Given the description of an element on the screen output the (x, y) to click on. 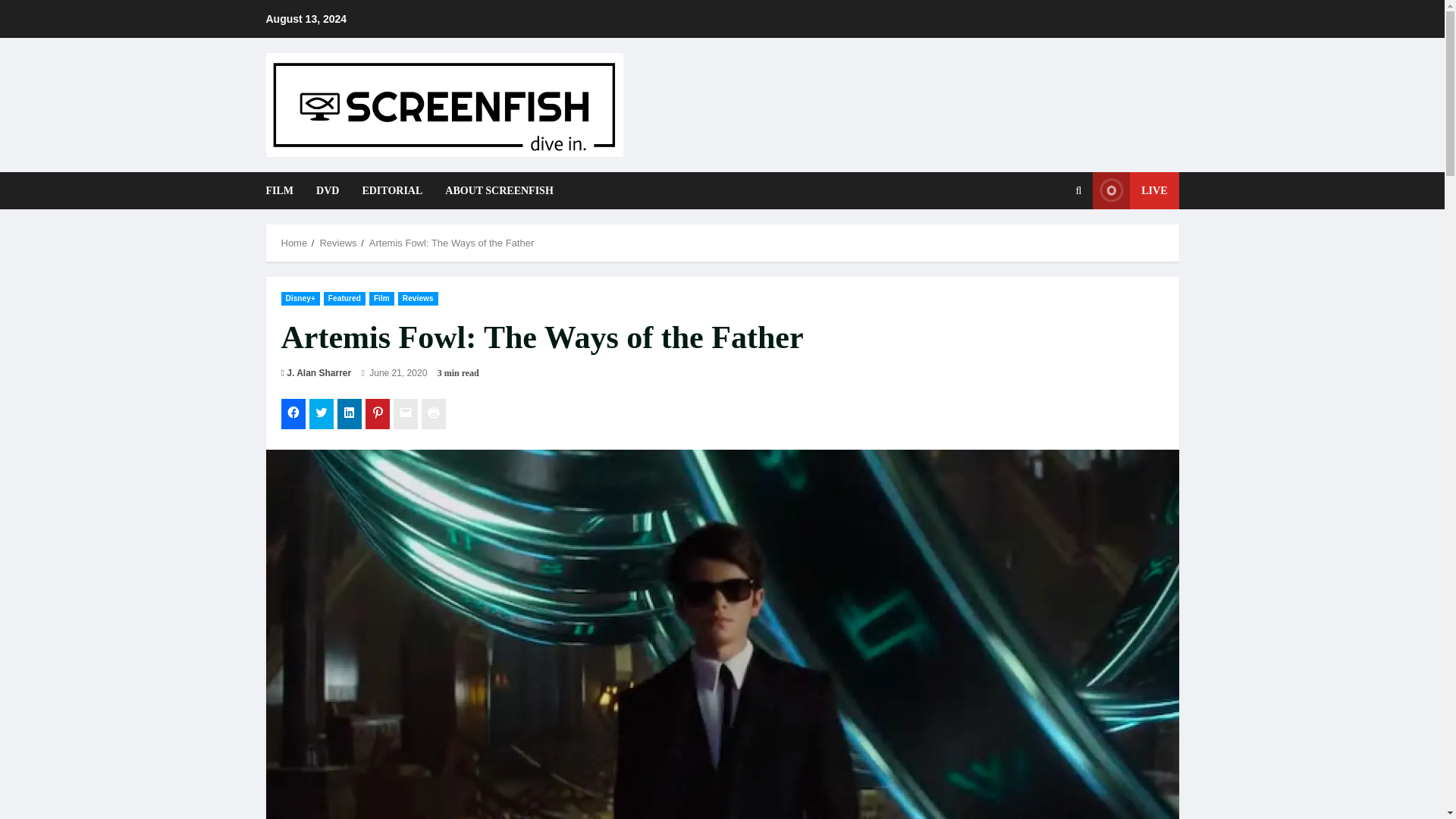
Search (1042, 241)
J. Alan Sharrer (318, 373)
Reviews (337, 242)
Reviews (417, 298)
Film (381, 298)
DVD (327, 190)
FILM (284, 190)
EDITORIAL (391, 190)
Featured (344, 298)
ABOUT SCREENFISH (493, 190)
